Given the description of an element on the screen output the (x, y) to click on. 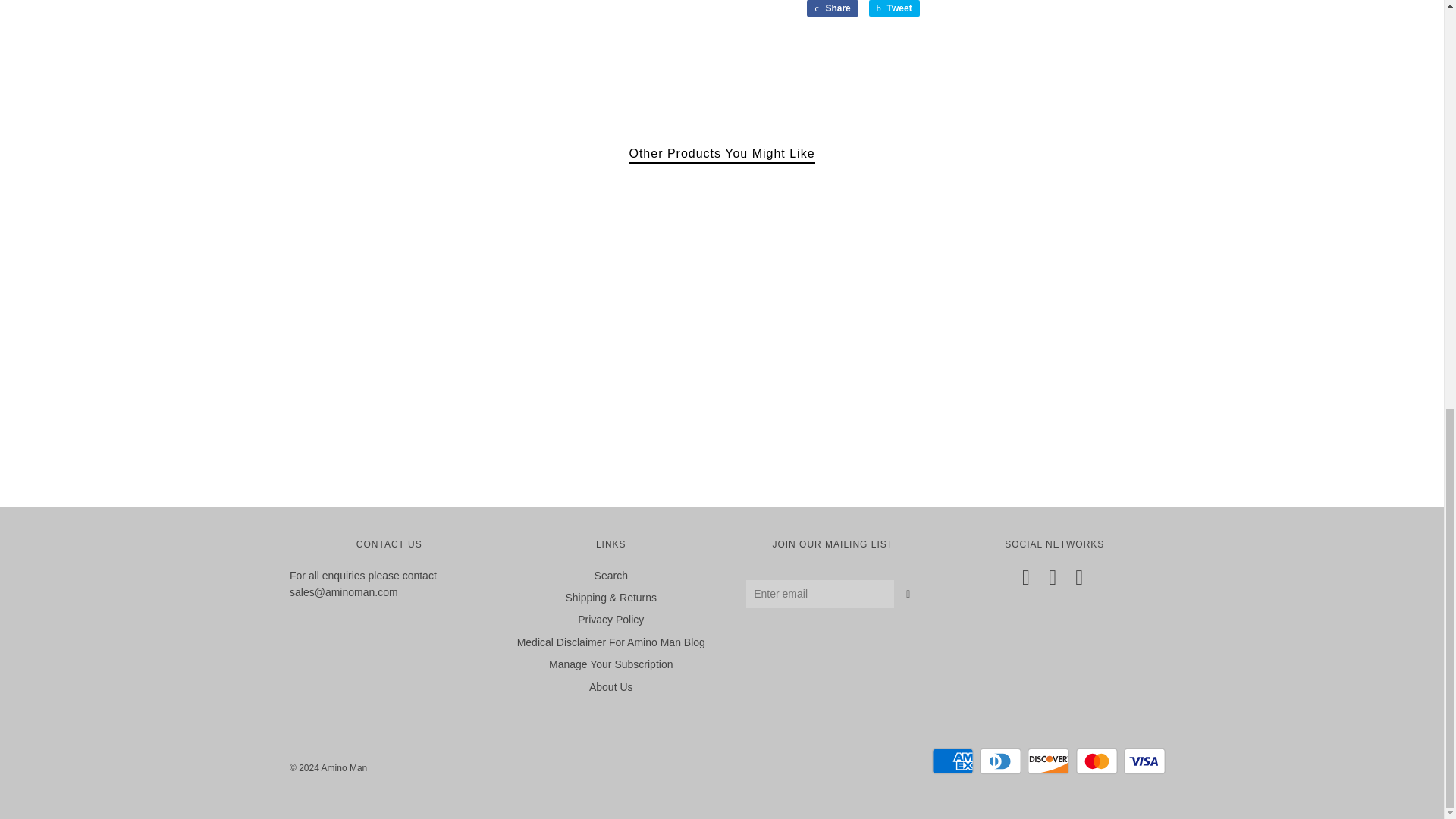
Diners Club (1000, 761)
American Express (952, 761)
Discover (1047, 761)
Visa (1145, 761)
Mastercard (1096, 761)
